Given the description of an element on the screen output the (x, y) to click on. 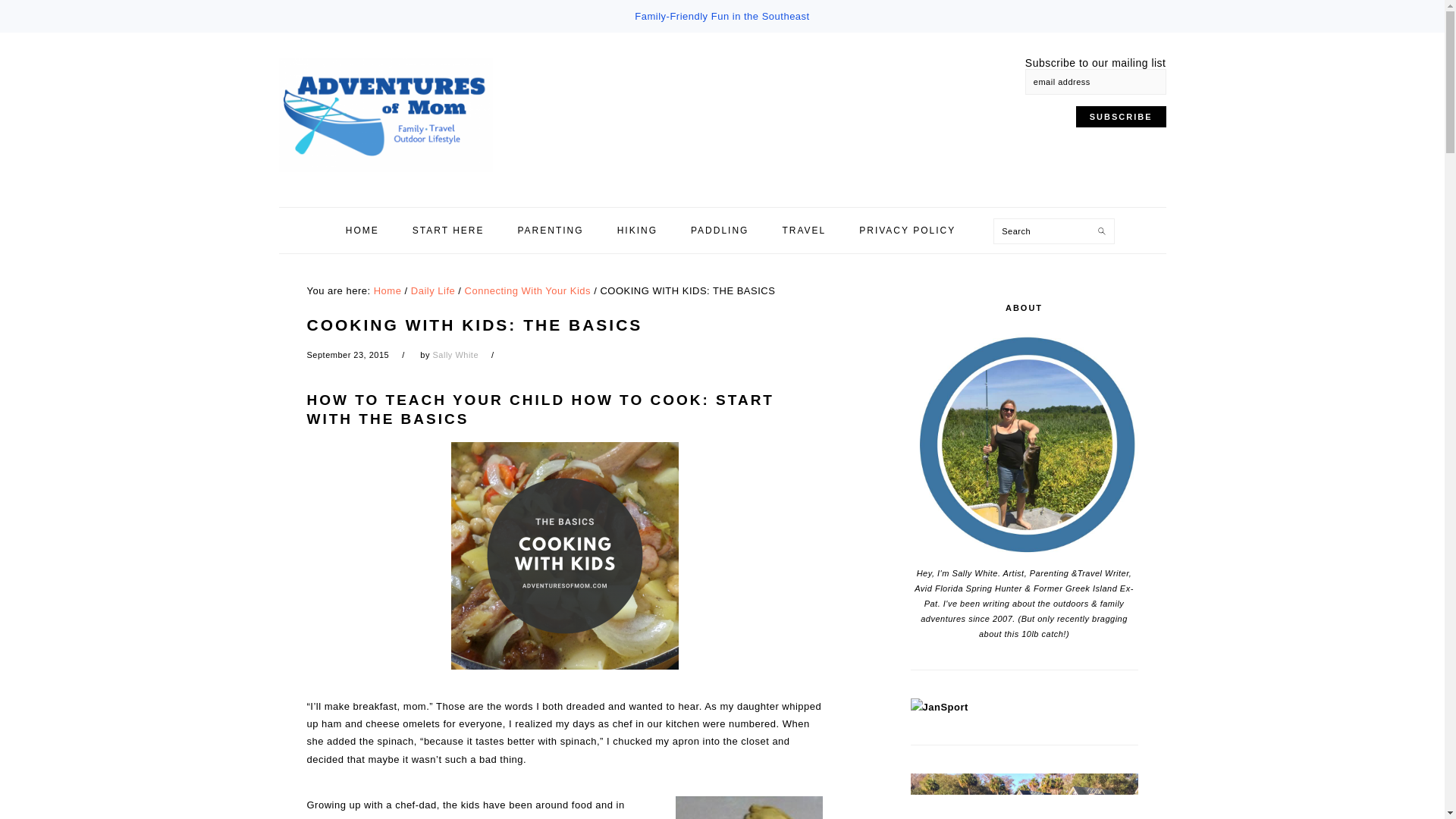
START HERE (448, 230)
PRIVACY POLICY (907, 230)
PARENTING (550, 230)
Subscribe (1120, 116)
ADVENTURES OF MOM (400, 114)
HOME (362, 230)
HIKING (636, 230)
Subscribe (1120, 116)
Connecting With Your Kids (527, 290)
